Given the description of an element on the screen output the (x, y) to click on. 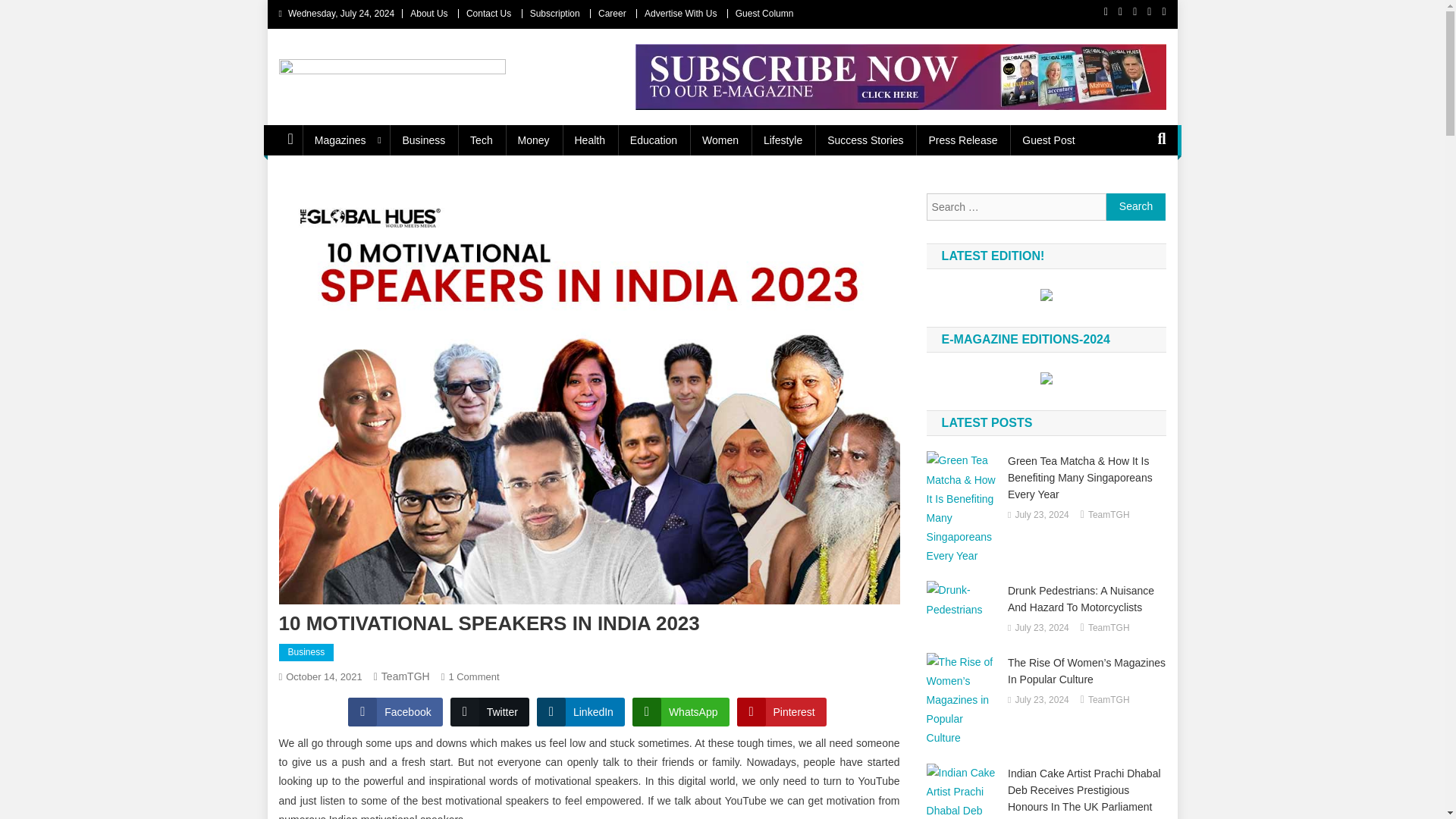
Contact Us (488, 13)
Success Stories (865, 140)
Business (306, 652)
Tech (481, 140)
Press Release (962, 140)
Subscription (554, 13)
Business (423, 140)
Advertise With Us (680, 13)
Guest Post (1048, 140)
TeamTGH (405, 676)
Money (533, 140)
Health (589, 140)
Education (652, 140)
Magazines (346, 140)
